Given the description of an element on the screen output the (x, y) to click on. 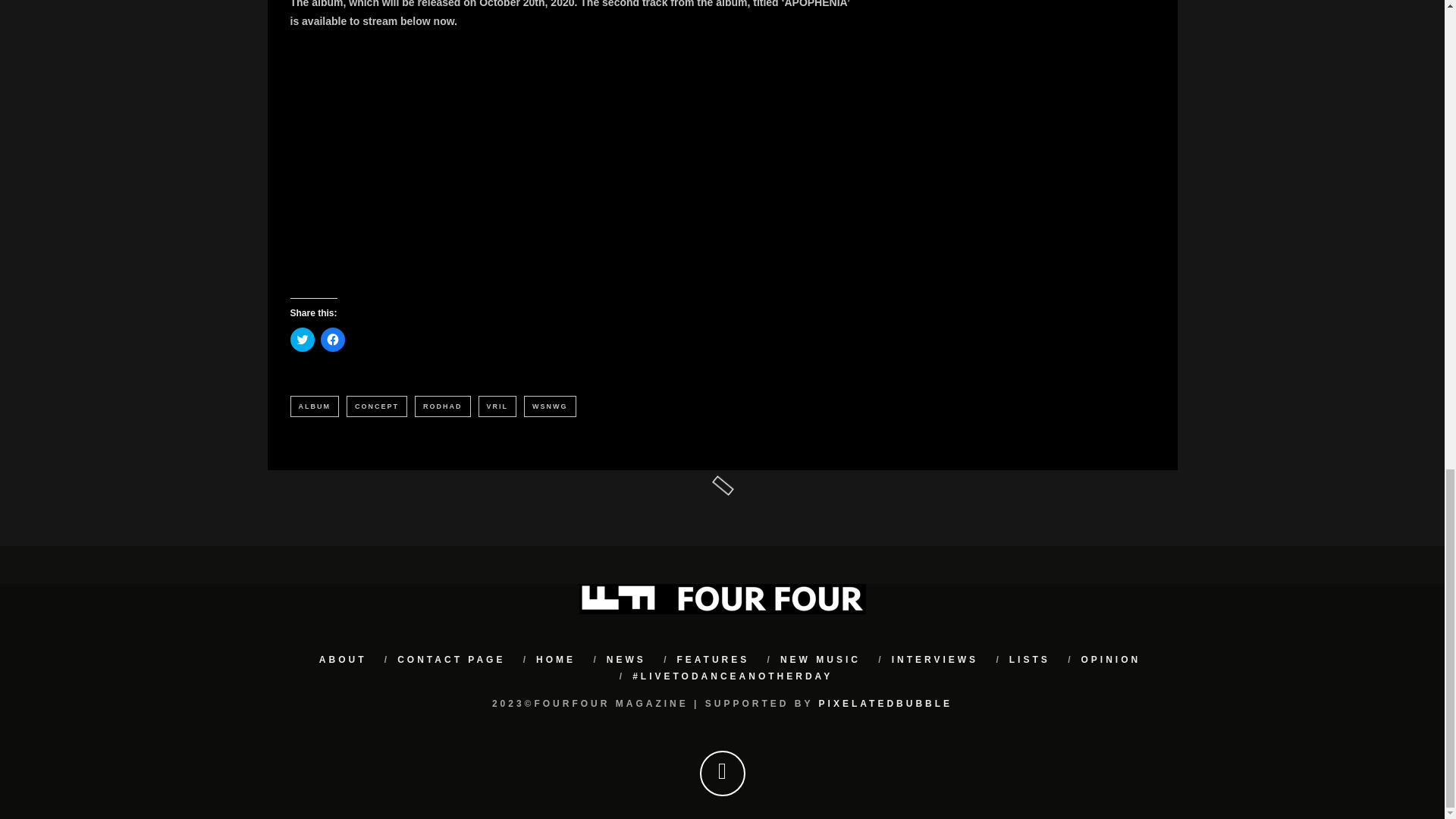
Click to share on Twitter (301, 339)
Click to share on Facebook (331, 339)
